Given the description of an element on the screen output the (x, y) to click on. 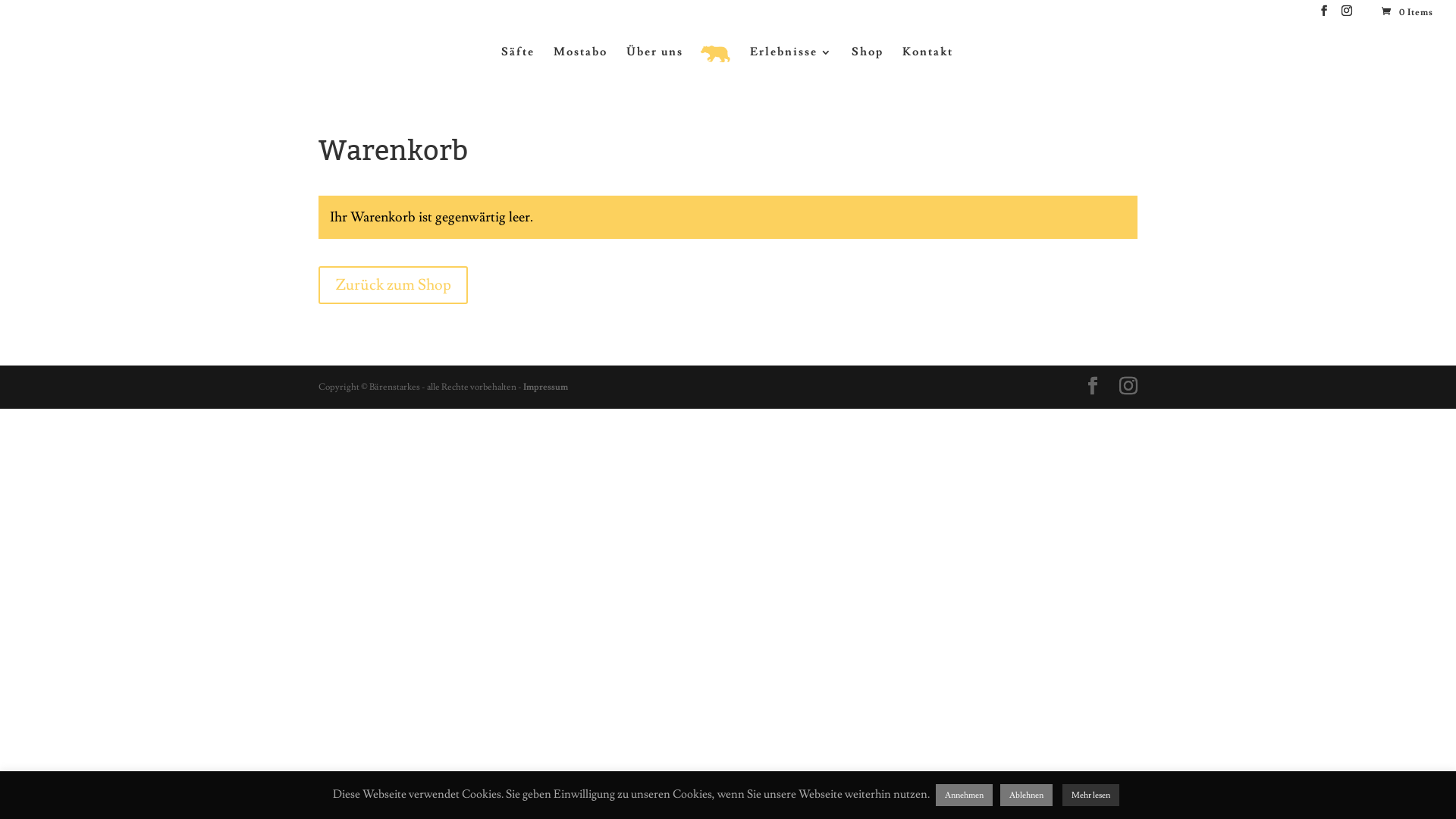
Kontakt Element type: text (927, 62)
Erlebnisse Element type: text (790, 62)
Annehmen Element type: text (963, 795)
0 Items Element type: text (1406, 12)
Impressum Element type: text (545, 386)
Mostabo Element type: text (580, 62)
Shop Element type: text (867, 62)
Mehr lesen Element type: text (1090, 795)
Ablehnen Element type: text (1026, 795)
